Given the description of an element on the screen output the (x, y) to click on. 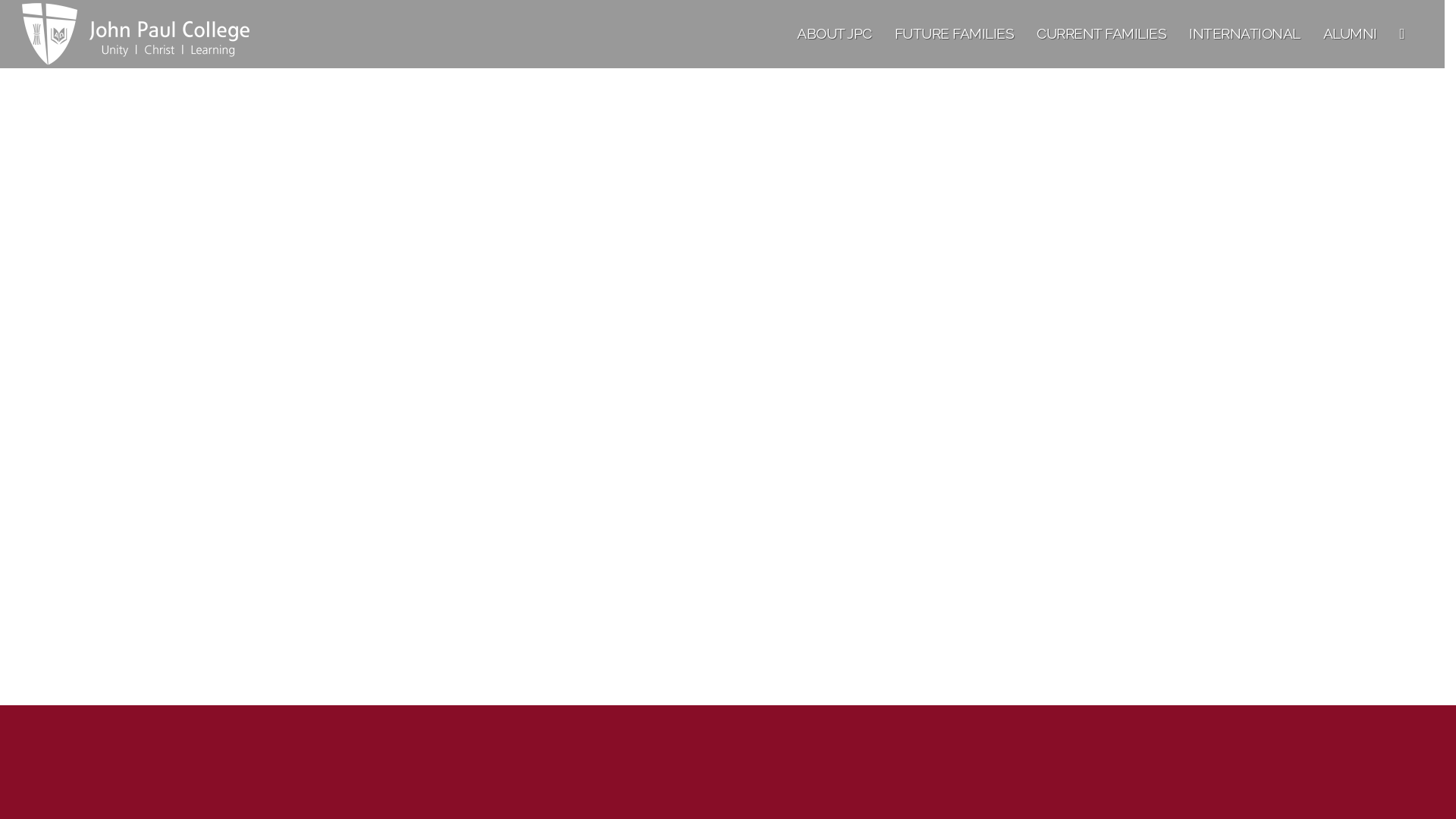
INTERNATIONAL Element type: text (1244, 34)
CURRENT FAMILIES Element type: text (1101, 34)
ALUMNI Element type: text (1349, 34)
ABOUT JPC Element type: text (834, 34)
FUTURE FAMILIES Element type: text (954, 34)
